Given the description of an element on the screen output the (x, y) to click on. 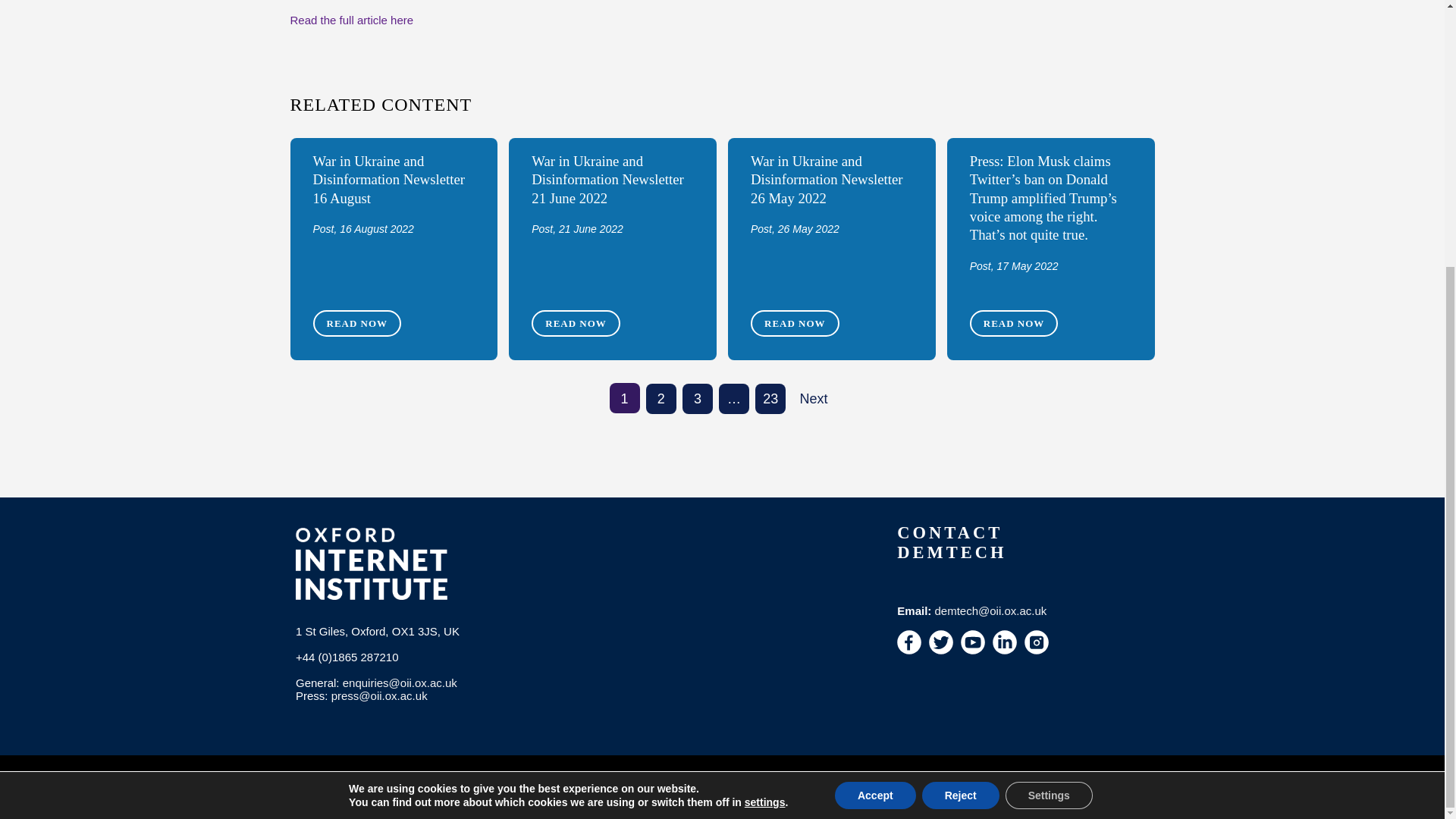
OII Youtube link (972, 641)
OII Facebook link (908, 641)
OII LinkedIn link (1004, 641)
OII Instagram link (1036, 641)
OII Twitter link (940, 641)
